Given the description of an element on the screen output the (x, y) to click on. 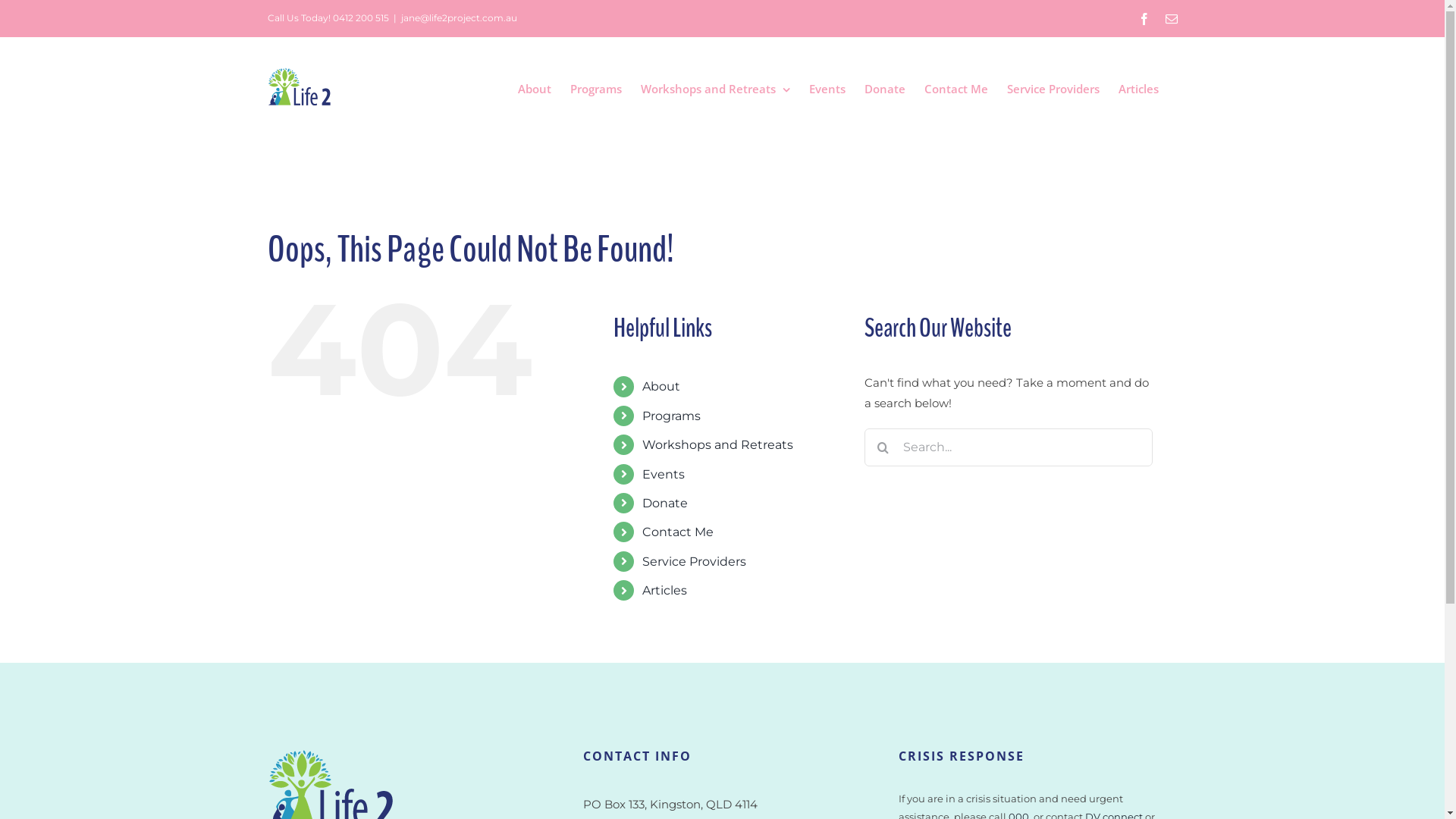
Donate Element type: text (884, 88)
Articles Element type: text (664, 590)
Events Element type: text (826, 88)
Events Element type: text (663, 474)
Facebook Element type: text (1143, 18)
Service Providers Element type: text (1053, 88)
jane@life2project.com.au Element type: text (458, 17)
Programs Element type: text (671, 415)
Workshops and Retreats Element type: text (717, 444)
Contact Me Element type: text (677, 531)
Email Element type: text (1170, 18)
Contact Me Element type: text (955, 88)
About Element type: text (661, 386)
Programs Element type: text (595, 88)
Articles Element type: text (1137, 88)
Workshops and Retreats Element type: text (714, 88)
Donate Element type: text (664, 502)
Service Providers Element type: text (694, 561)
About Element type: text (533, 88)
